Given the description of an element on the screen output the (x, y) to click on. 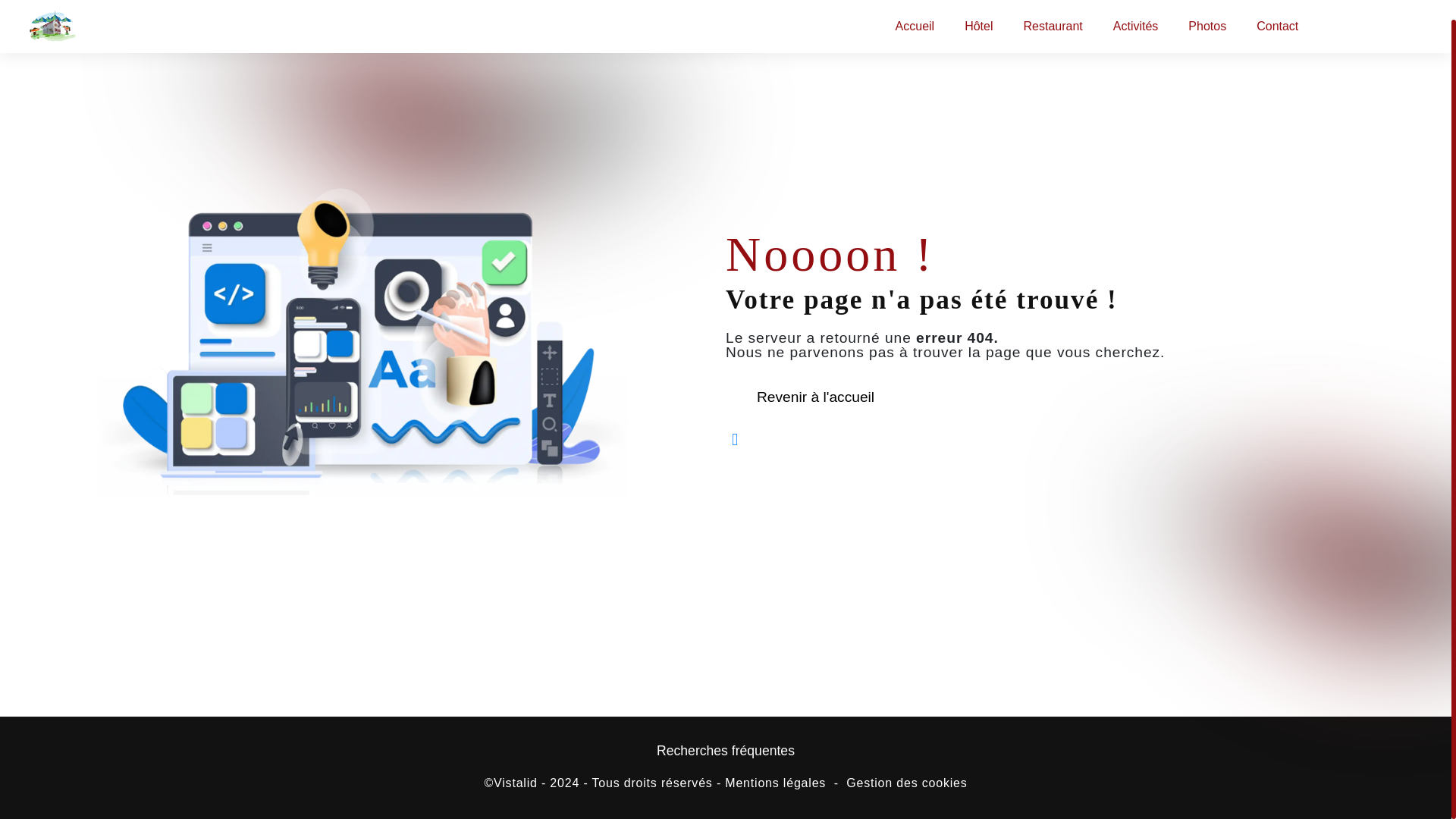
Contact (1277, 9)
Accueil (915, 9)
Restaurant (1053, 9)
Photos (1206, 9)
